Given the description of an element on the screen output the (x, y) to click on. 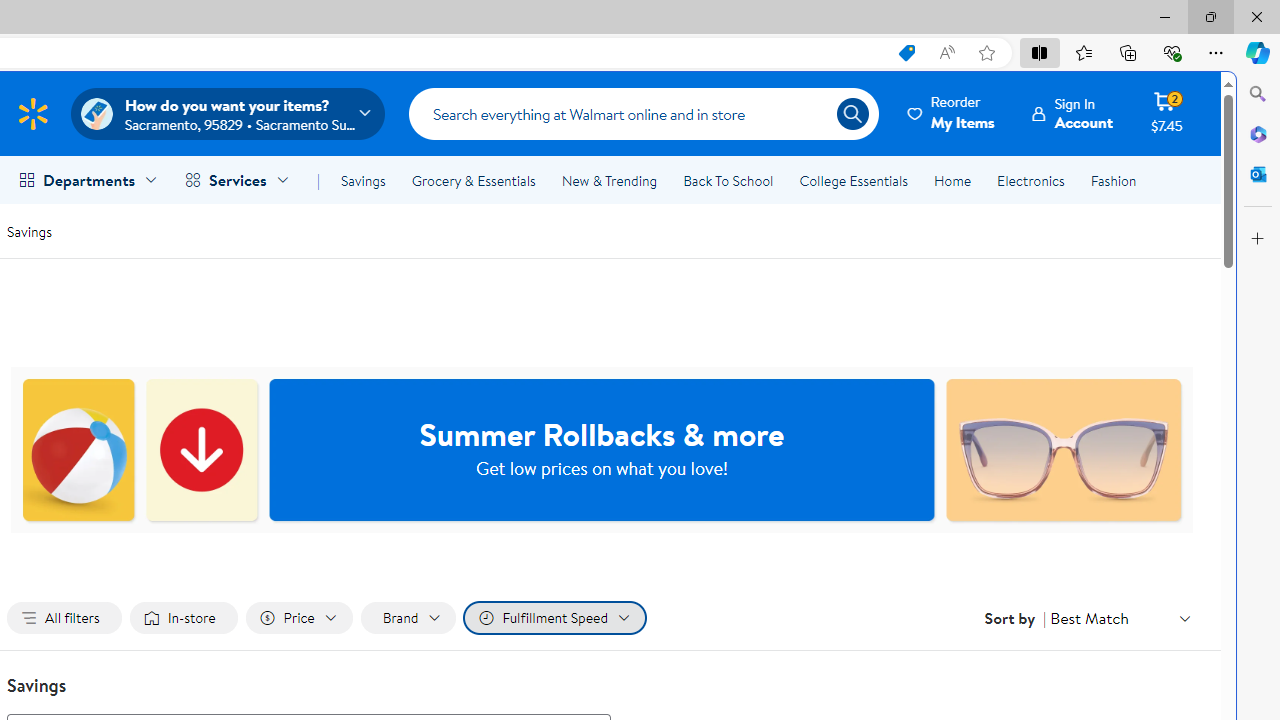
Sign InAccount (1072, 113)
Back To School (728, 180)
Filter by Brand not applied, activate to change (407, 618)
Reorder My Items (952, 113)
Savings (29, 230)
Close Search pane (1258, 94)
Walmart Homepage (32, 113)
